Given the description of an element on the screen output the (x, y) to click on. 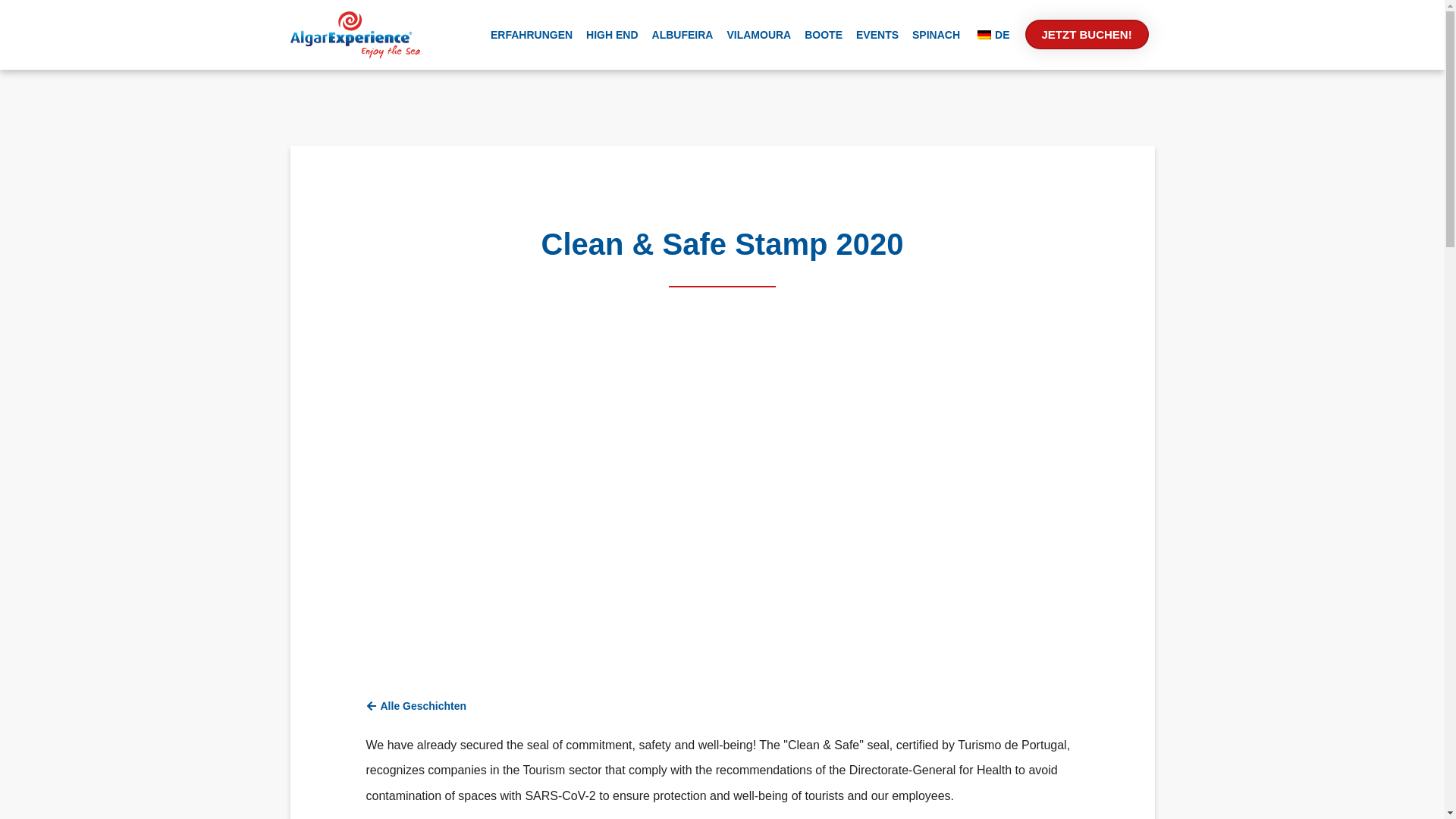
VILAMOURA (758, 34)
ERFAHRUNGEN (531, 34)
ALBUFEIRA (682, 34)
German (983, 34)
